Given the description of an element on the screen output the (x, y) to click on. 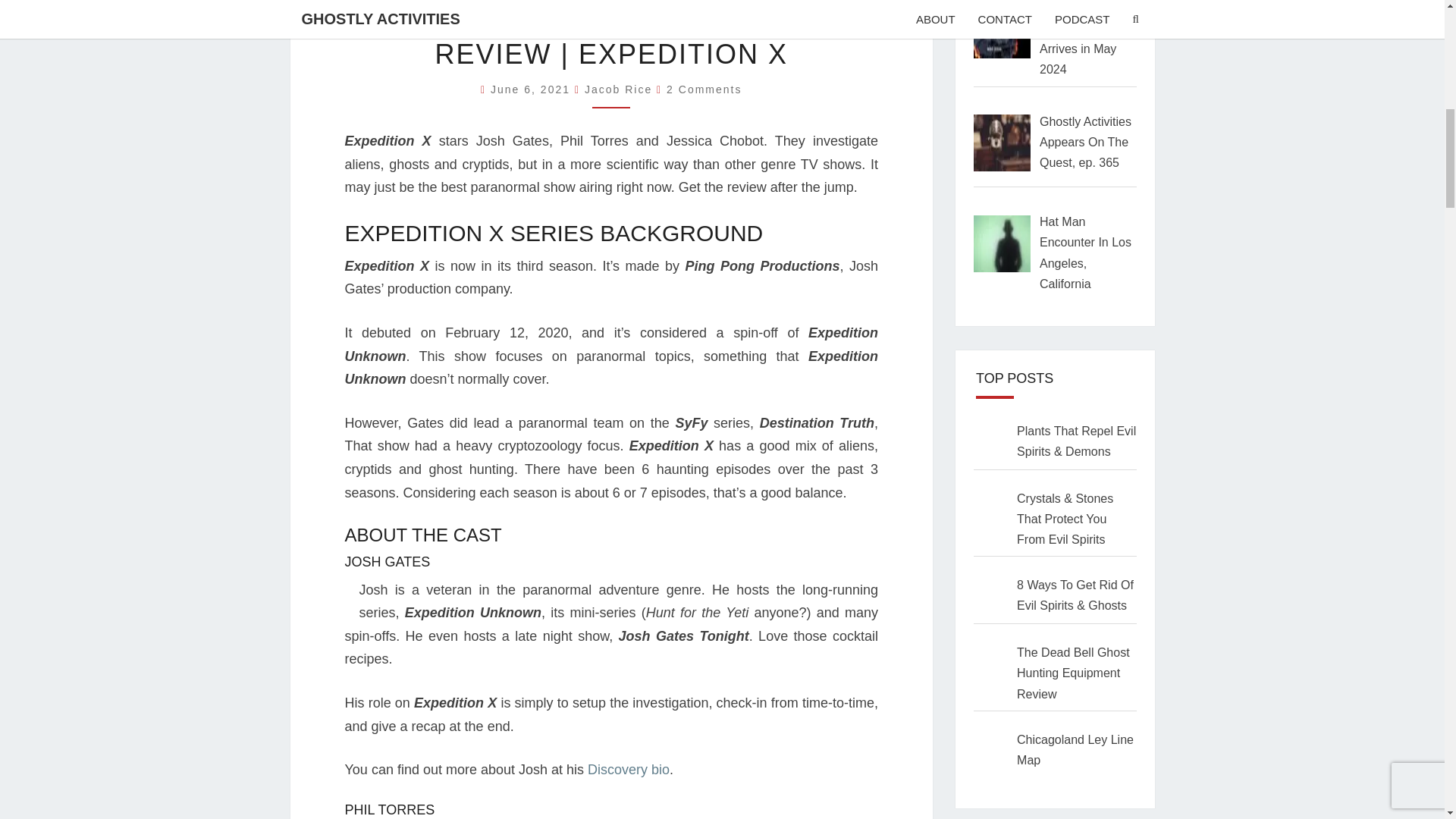
View all posts by Jacob Rice (618, 89)
Jacob Rice (618, 89)
Discovery bio (628, 769)
2 Comments (703, 89)
7:20 pm (532, 89)
June 6, 2021 (532, 89)
